Given the description of an element on the screen output the (x, y) to click on. 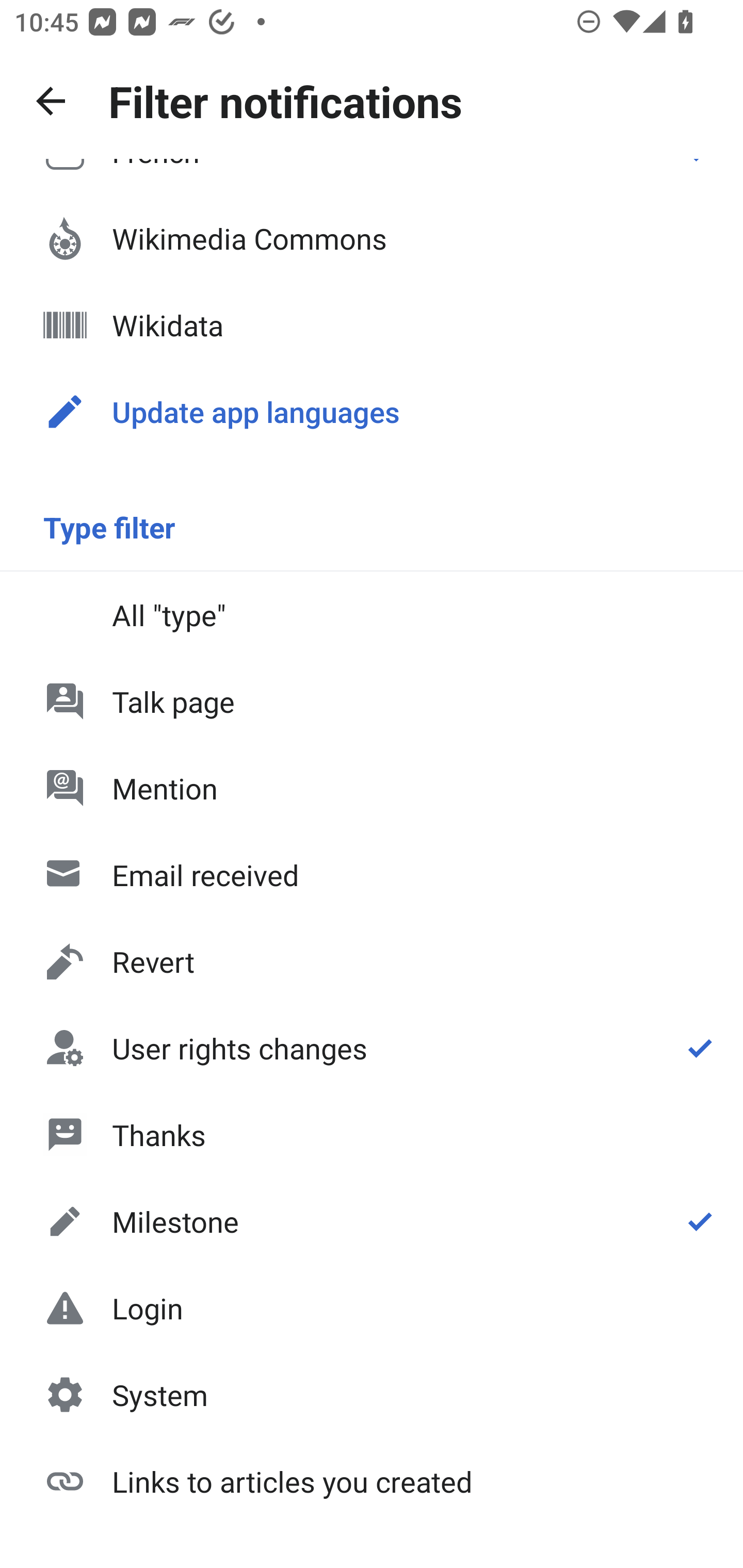
Navigate up (50, 101)
Wikimedia Commons (371, 238)
Wikidata (371, 325)
Update app languages (371, 411)
All "type" (371, 614)
Talk page (371, 701)
Mention (371, 787)
Email received (371, 874)
Revert (371, 961)
User rights changes (371, 1048)
Thanks (371, 1134)
Milestone (371, 1221)
Login (371, 1308)
System (371, 1394)
Links to articles you created (371, 1480)
